Given the description of an element on the screen output the (x, y) to click on. 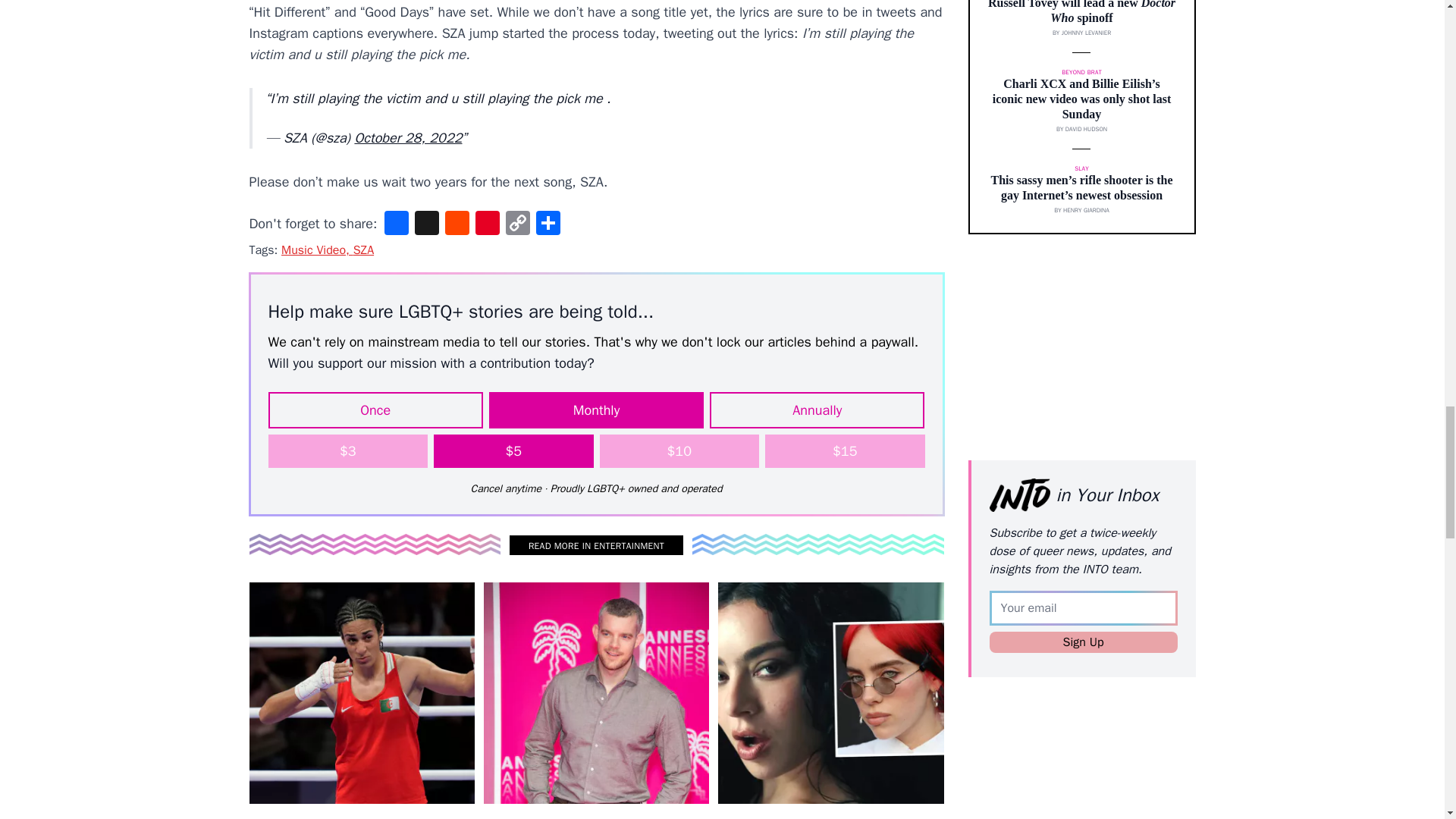
Copy Link (517, 224)
Facebook (396, 224)
Copy Link (517, 224)
Reddit (456, 224)
X (427, 224)
October 28, 2022 (407, 137)
Pinterest (486, 224)
X (427, 224)
Pinterest (486, 224)
Sign Up (1082, 641)
